Given the description of an element on the screen output the (x, y) to click on. 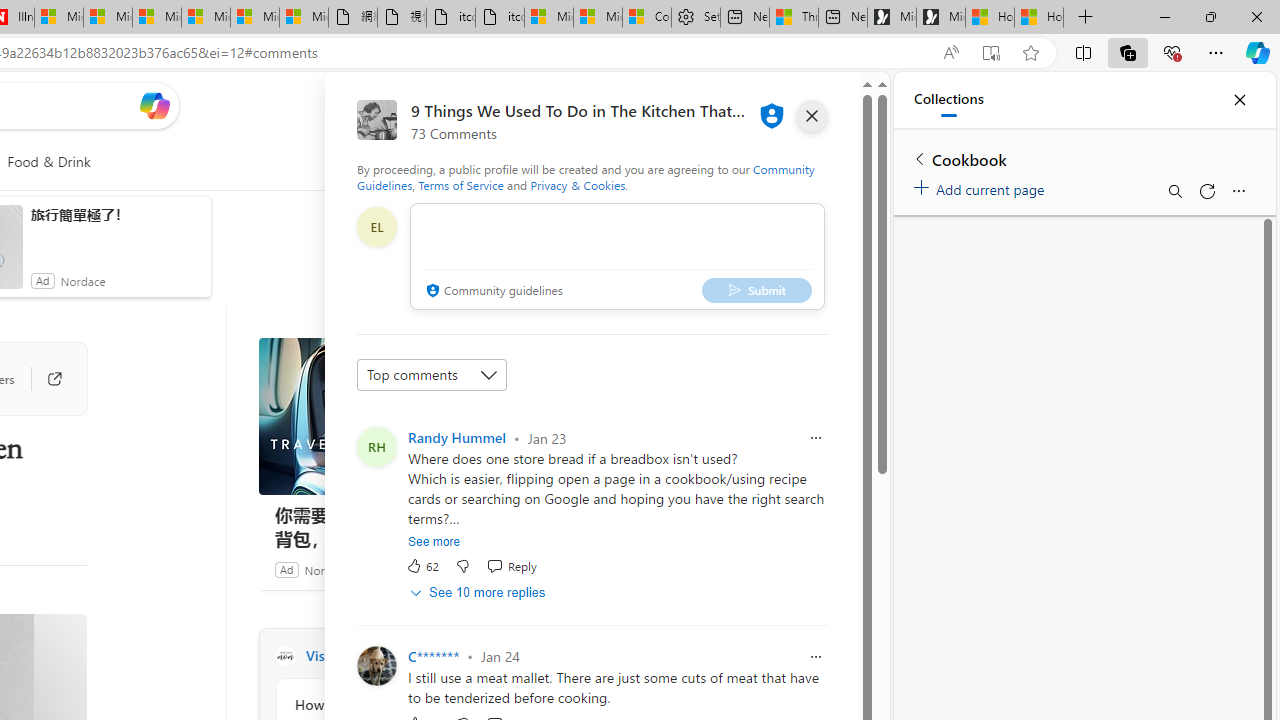
Go to publisher's site (44, 378)
Report comment (815, 656)
Terms of Service (461, 184)
Add current page (982, 186)
